Given the description of an element on the screen output the (x, y) to click on. 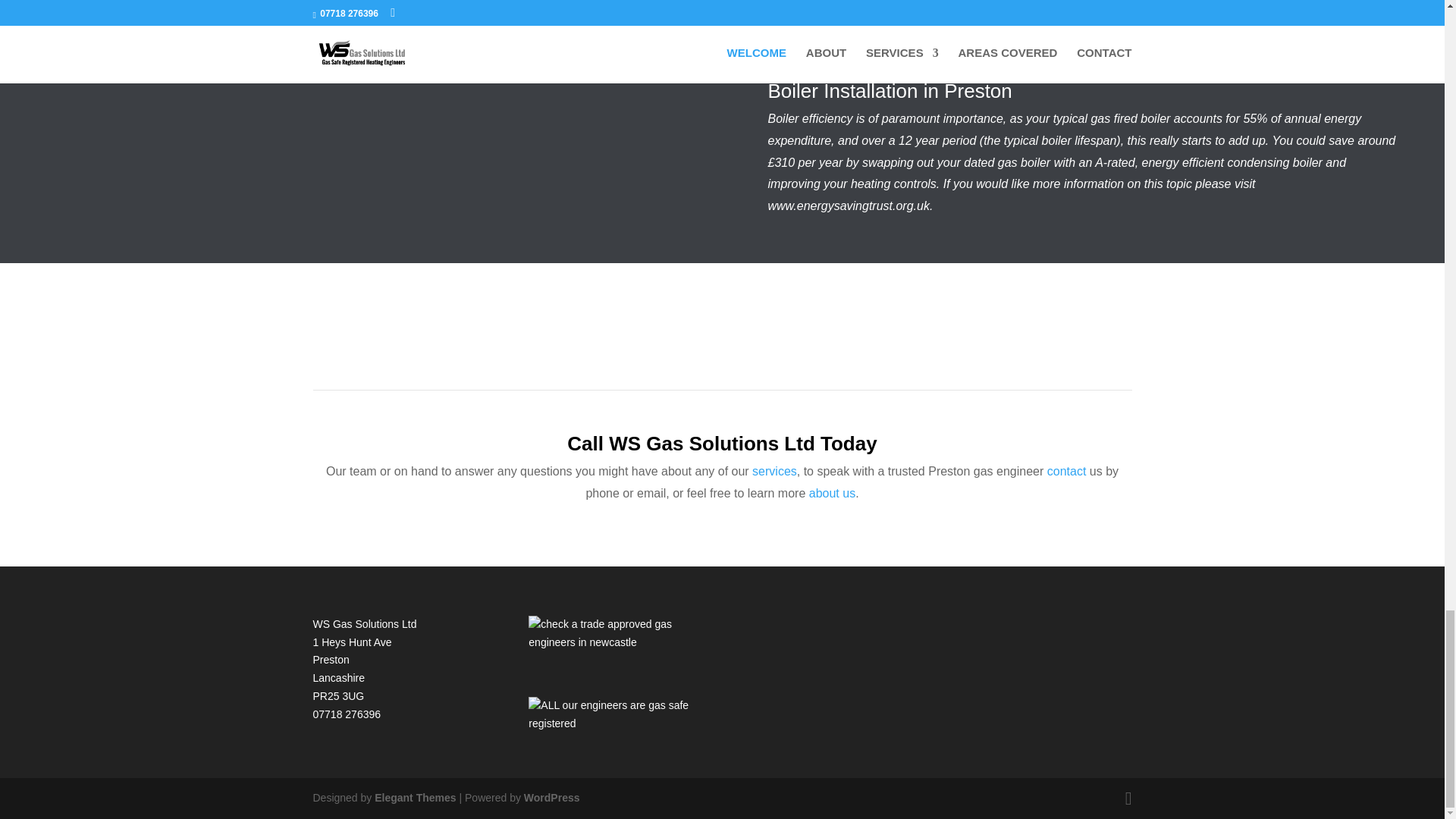
Premium WordPress Themes (414, 797)
WordPress (551, 797)
contact (1067, 471)
Elegant Themes (414, 797)
services (774, 471)
about us (832, 492)
